Given the description of an element on the screen output the (x, y) to click on. 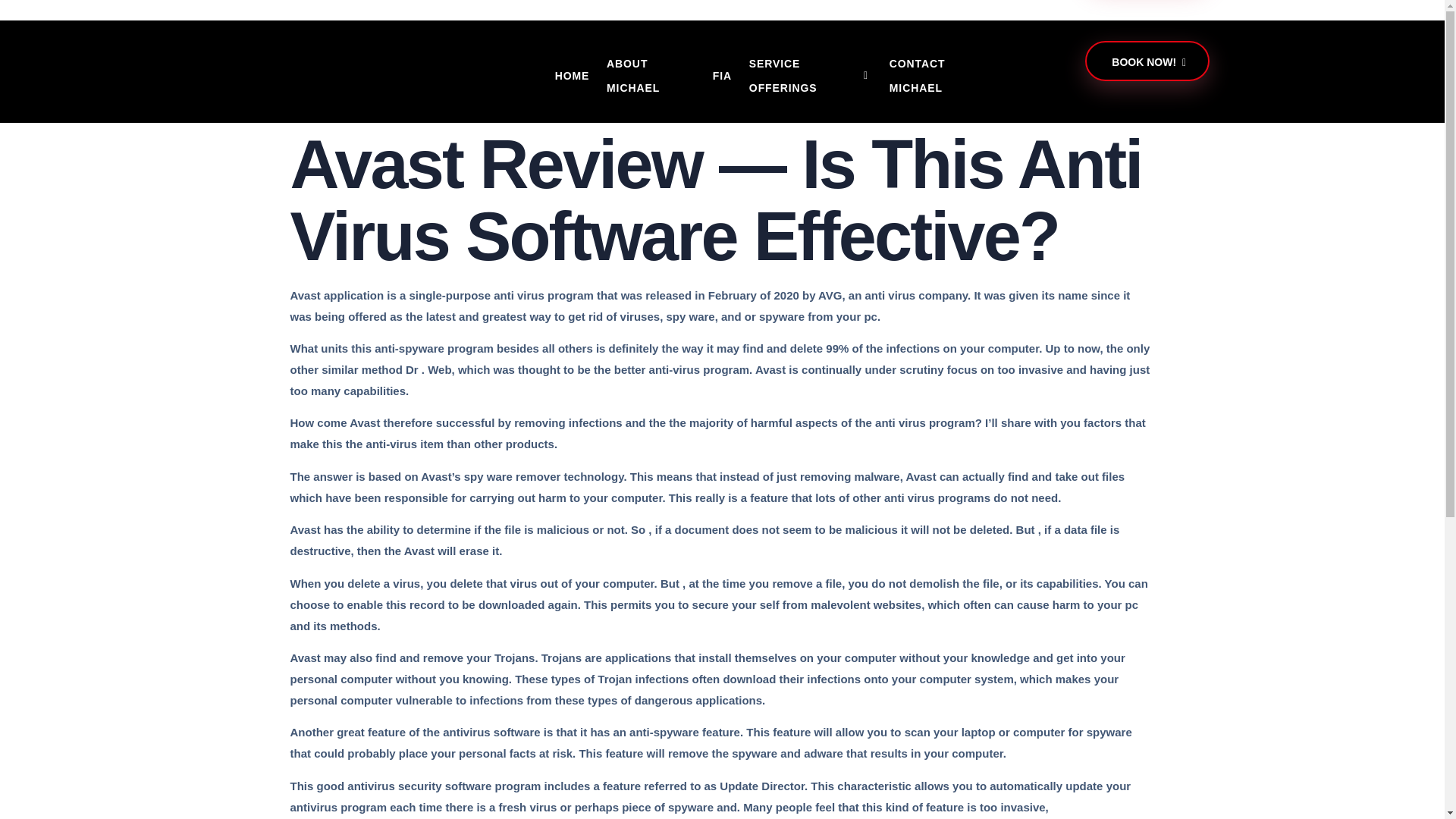
SERVICE OFFERINGS (810, 75)
BOOK NOW! (1146, 60)
CONTACT MICHAEL (940, 75)
ABOUT MICHAEL (651, 75)
